Given the description of an element on the screen output the (x, y) to click on. 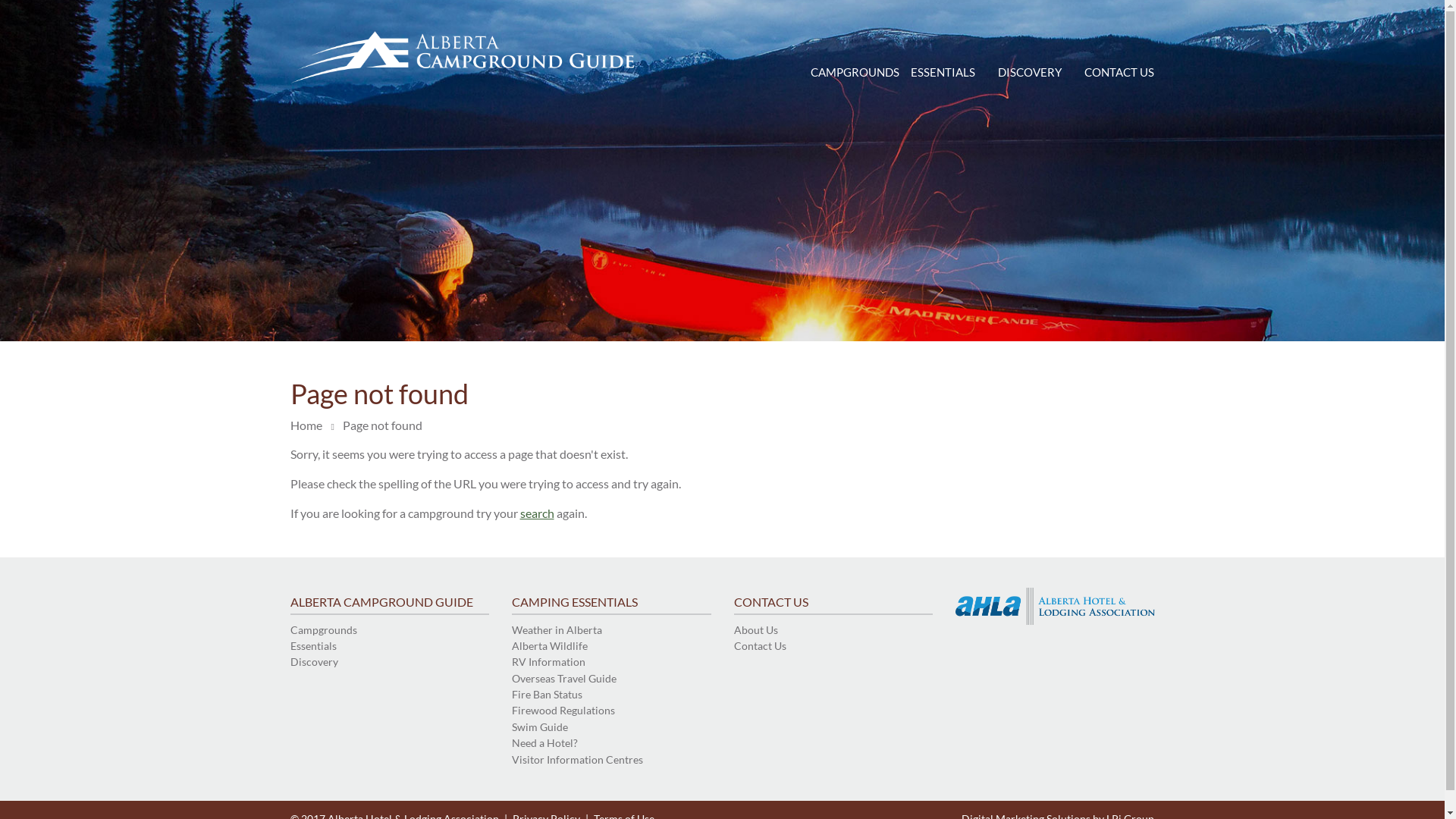
Essentials Element type: text (389, 645)
Home Element type: text (305, 425)
Swim Guide Element type: text (611, 726)
Discovery Element type: text (389, 661)
AHLA | Alberta Hotel and Lodging Association Element type: hover (1054, 605)
DISCOVERY Element type: text (1029, 74)
ESSENTIALS Element type: text (942, 74)
Campgrounds Element type: text (389, 629)
Weather in Alberta Element type: text (611, 629)
RV Information Element type: text (611, 661)
Contact Us Element type: text (833, 645)
Visitor Information Centres Element type: text (611, 759)
Alberta Wildlife Element type: text (611, 645)
search Element type: text (537, 512)
Fire Ban Status Element type: text (611, 694)
Need a Hotel? Element type: text (611, 742)
Firewood Regulations Element type: text (611, 710)
Overseas Travel Guide Element type: text (611, 678)
CAMPGROUNDS Element type: text (854, 74)
CONTACT US Element type: text (1119, 74)
Alberta Campground Guide - AHLA Element type: hover (463, 57)
About Us Element type: text (833, 629)
